Given the description of an element on the screen output the (x, y) to click on. 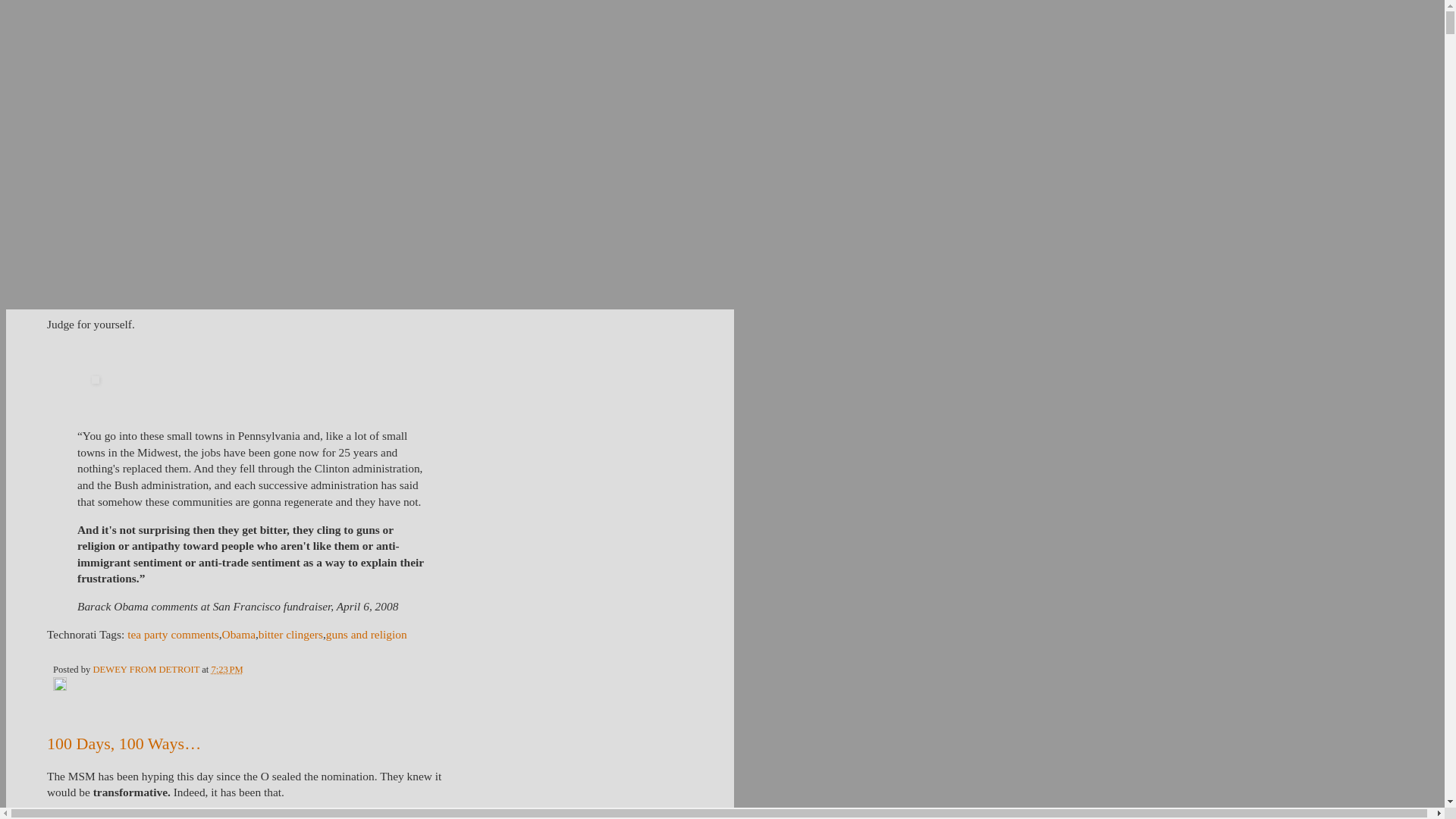
guns and religion (366, 634)
author profile (147, 669)
DEWEY FROM DETROIT (369, 68)
permanent link (227, 669)
DEWEY FROM DETROIT (147, 669)
Edit Post (59, 687)
Did He Just Call Us Bitter Clingers? Again? (194, 246)
tea party comments (173, 634)
bitter clingers (291, 634)
